Given the description of an element on the screen output the (x, y) to click on. 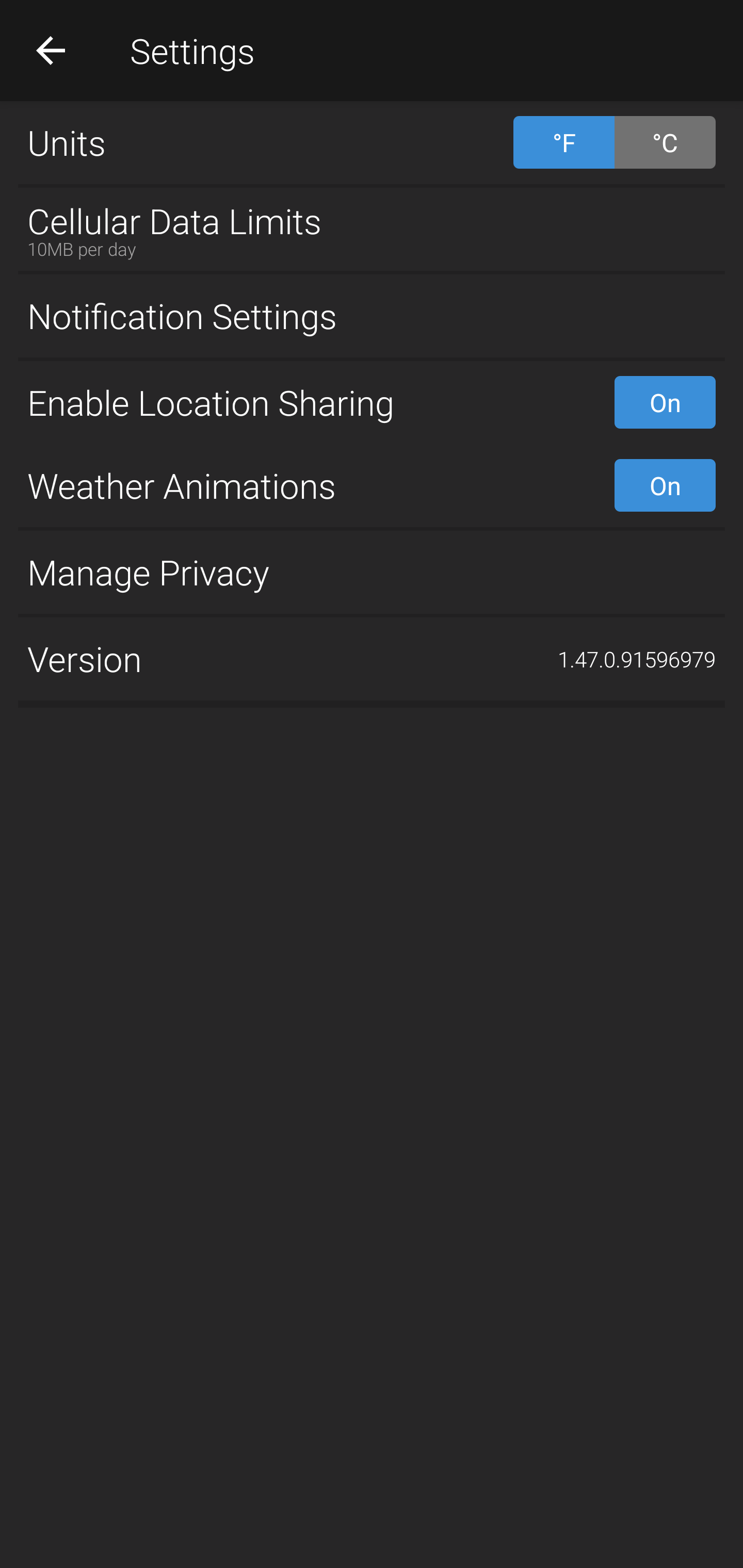
Navigate up (50, 50)
°F (563, 142)
°C (664, 142)
Cellular Data Limits 10MB per day (371, 229)
Notification Settings (371, 315)
Enable Location Sharing On (371, 401)
On (664, 402)
Weather Animations On (371, 484)
On (664, 485)
Manage Privacy (371, 571)
1.47.0.91596979 (636, 658)
